Given the description of an element on the screen output the (x, y) to click on. 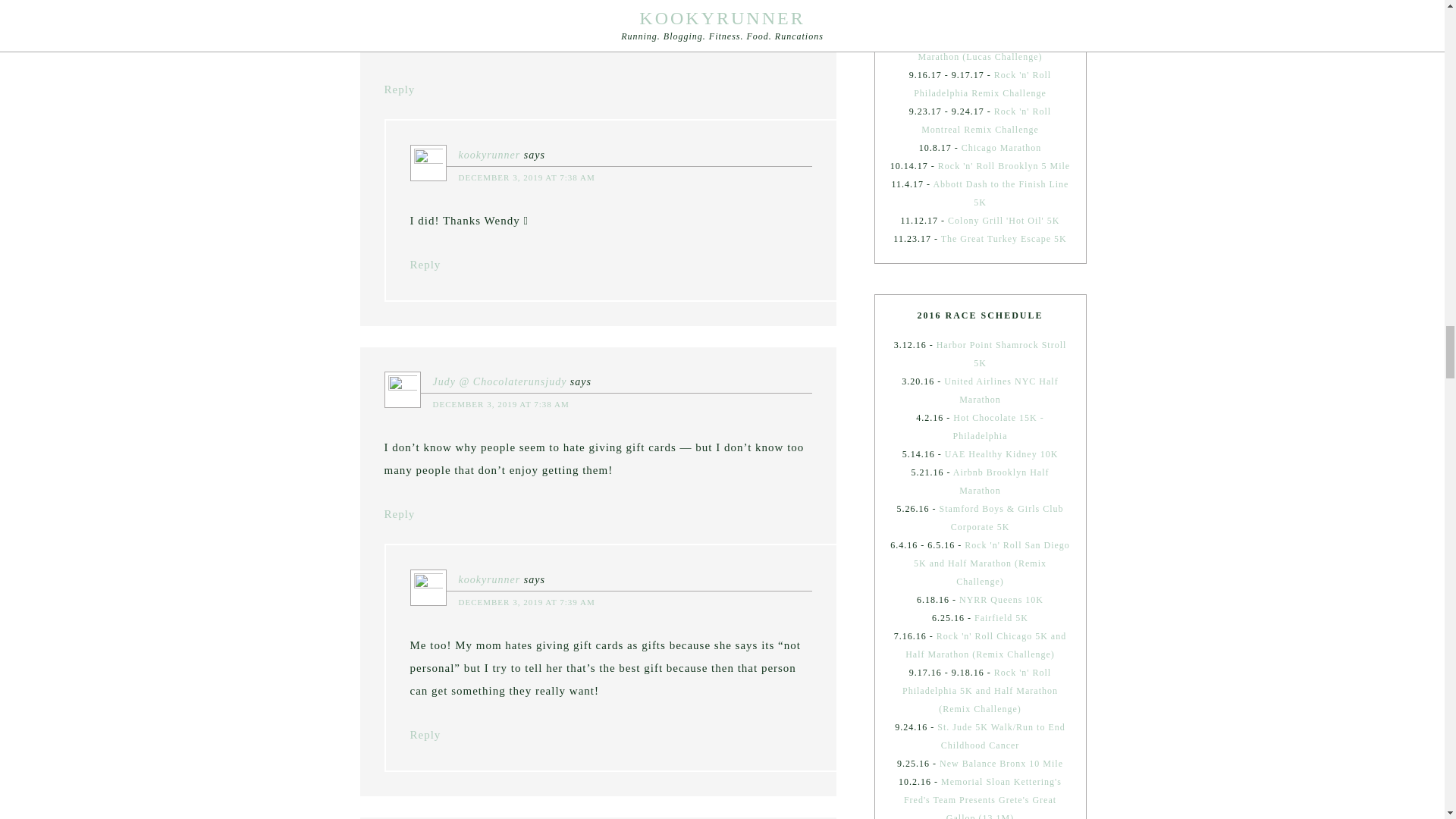
DECEMBER 3, 2019 AT 7:39 AM (526, 601)
DECEMBER 3, 2019 AT 7:38 AM (500, 403)
kookyrunner (488, 154)
DECEMBER 3, 2019 AT 6:55 AM (500, 3)
kookyrunner (488, 579)
Reply (399, 513)
Reply (399, 89)
Reply (425, 734)
DECEMBER 3, 2019 AT 7:38 AM (526, 176)
Reply (425, 264)
